Given the description of an element on the screen output the (x, y) to click on. 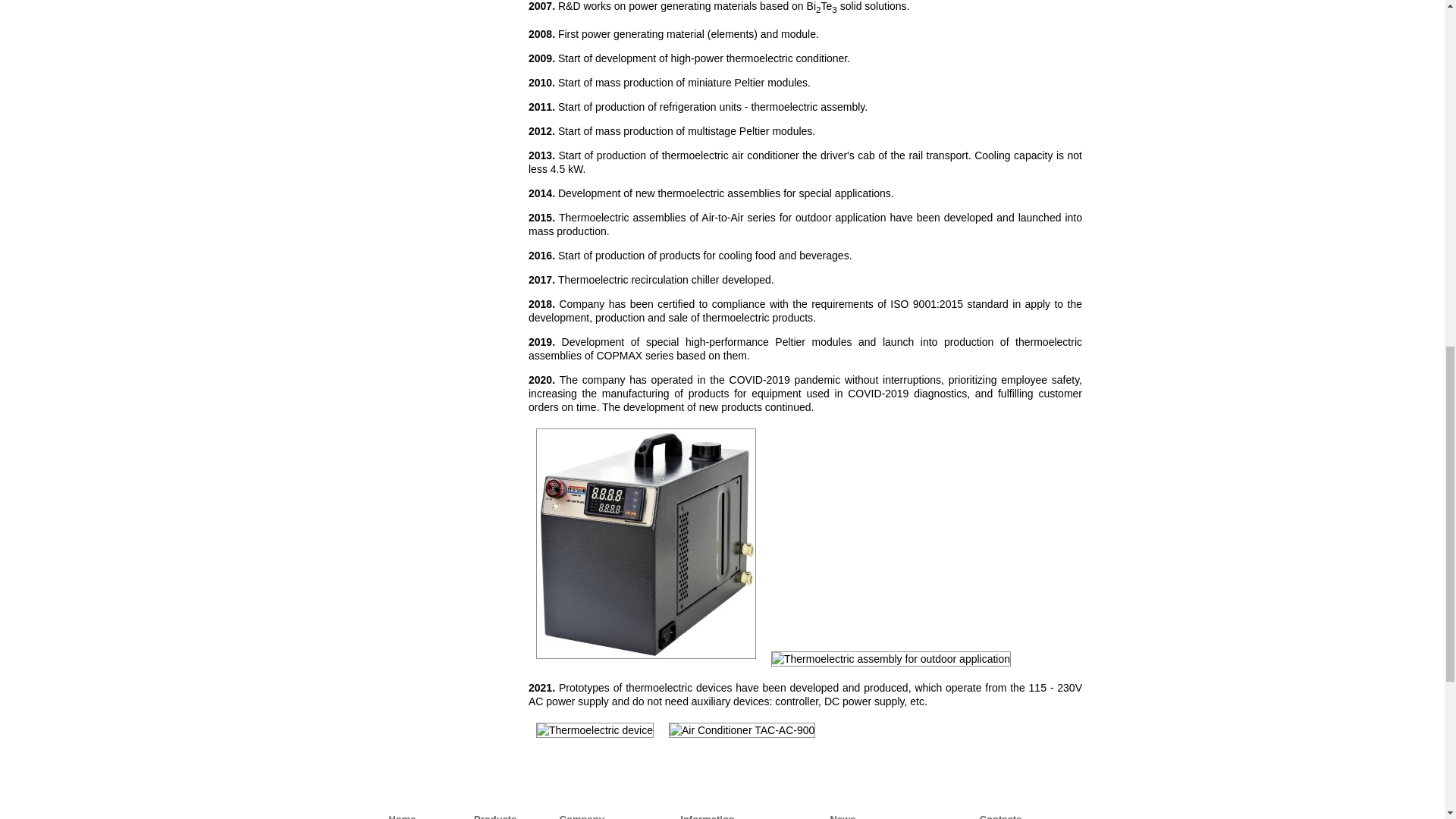
Thermoelectric assembly for outdoor application (890, 658)
Air Conditioner TAC-AC-900 (741, 729)
Thermoelectric device (594, 729)
Thermoelectric chiller (645, 543)
